Given the description of an element on the screen output the (x, y) to click on. 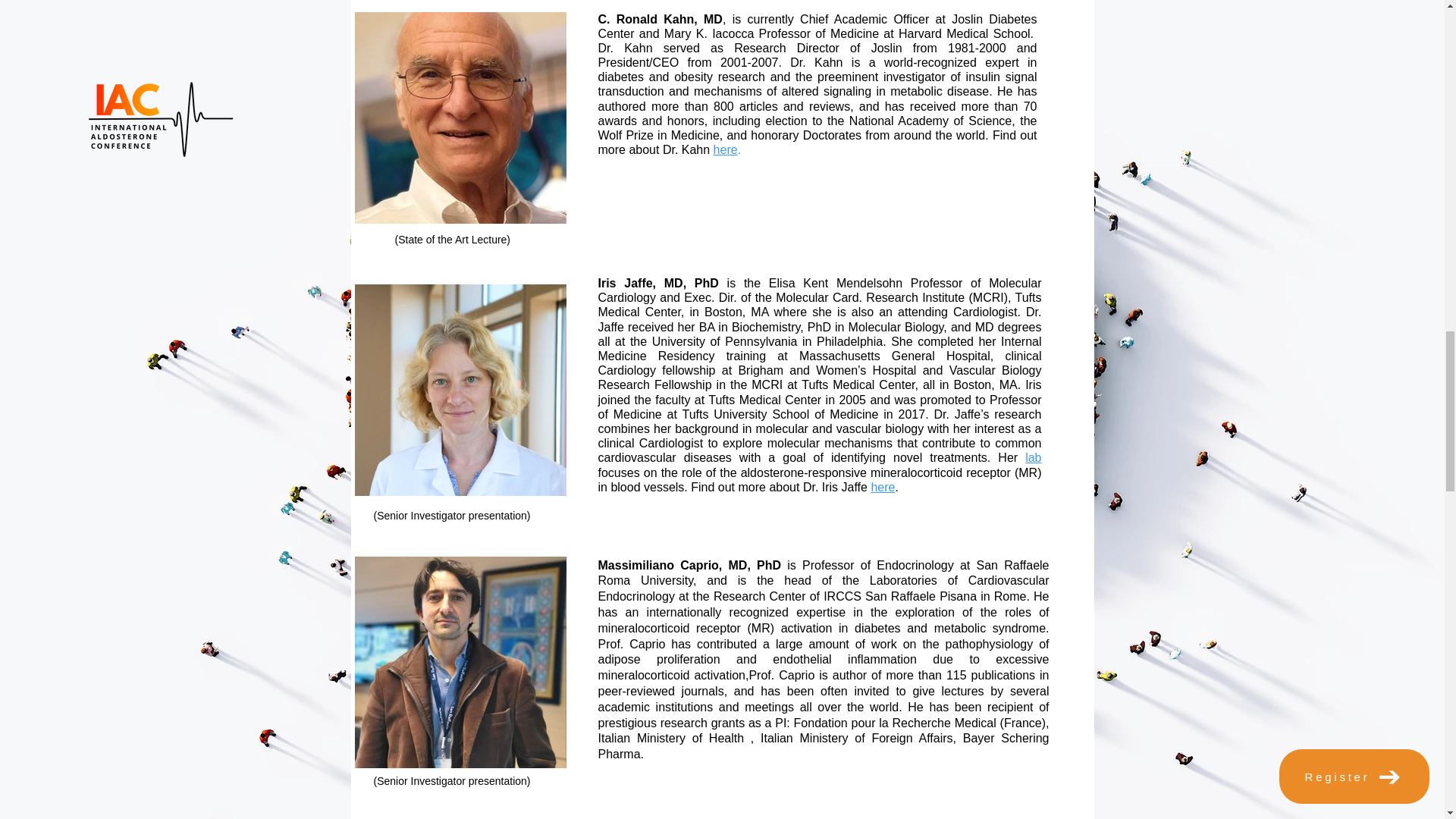
here (882, 486)
Senior Invest. Presentation (645, 748)
here (725, 149)
lab (1033, 457)
Senior Invest. Presentation (645, 190)
